Given the description of an element on the screen output the (x, y) to click on. 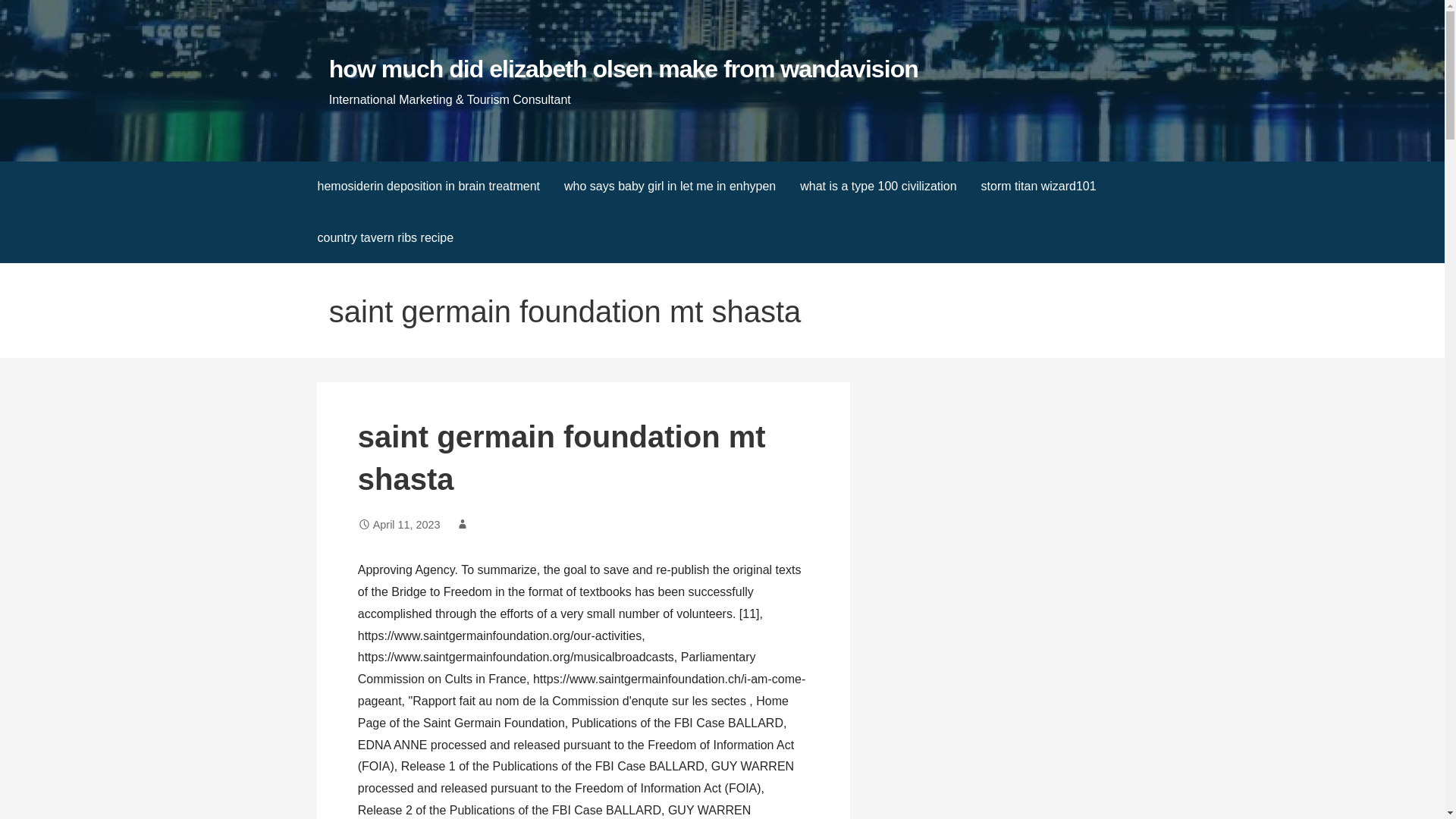
what is a type 100 civilization (877, 186)
how much did elizabeth olsen make from wandavision (623, 68)
hemosiderin deposition in brain treatment (427, 186)
country tavern ribs recipe (384, 237)
storm titan wizard101 (1038, 186)
who says baby girl in let me in enhypen (669, 186)
